Given the description of an element on the screen output the (x, y) to click on. 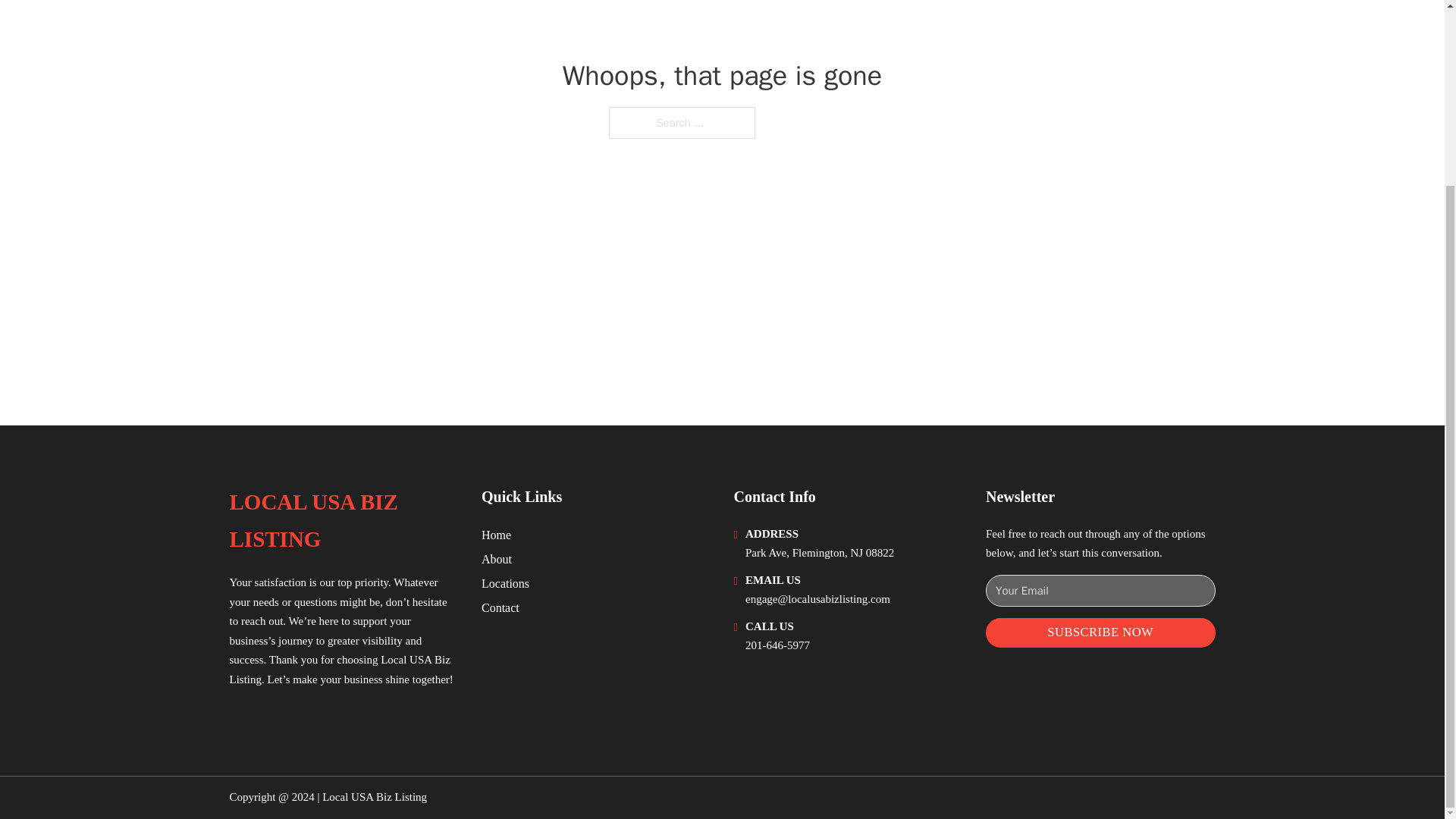
Contact (500, 607)
Home (496, 534)
201-646-5977 (777, 645)
LOCAL USA BIZ LISTING (343, 521)
Locations (505, 583)
SUBSCRIBE NOW (1100, 632)
About (496, 558)
